Given the description of an element on the screen output the (x, y) to click on. 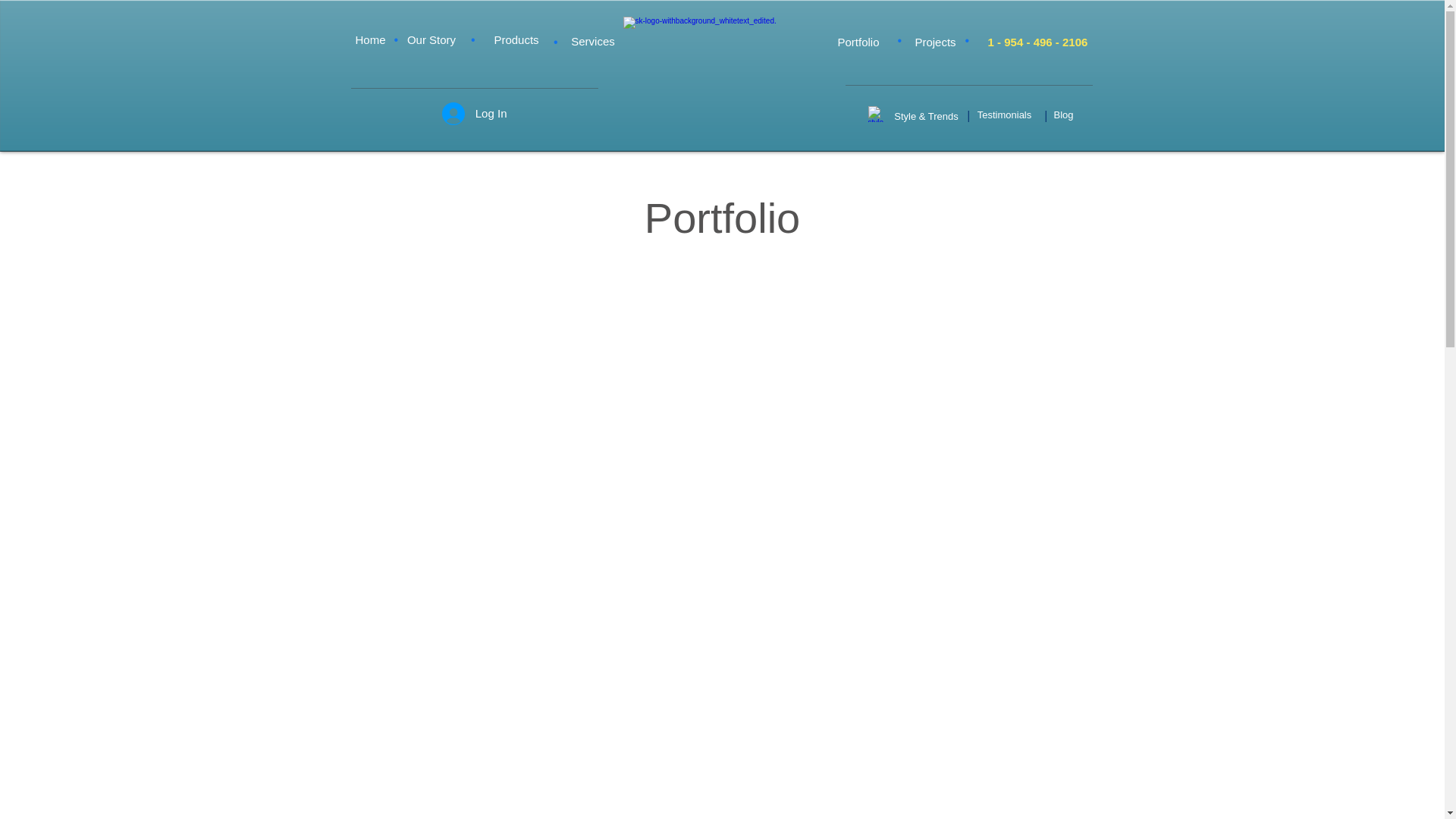
Testimonials (1005, 114)
Blog (1063, 114)
Our Story (431, 39)
Projects (934, 41)
Home (370, 39)
Services (593, 41)
Products (515, 39)
Log In (474, 113)
Portfolio (858, 41)
1 - 954 - 496 - 2106 (1037, 41)
